Given the description of an element on the screen output the (x, y) to click on. 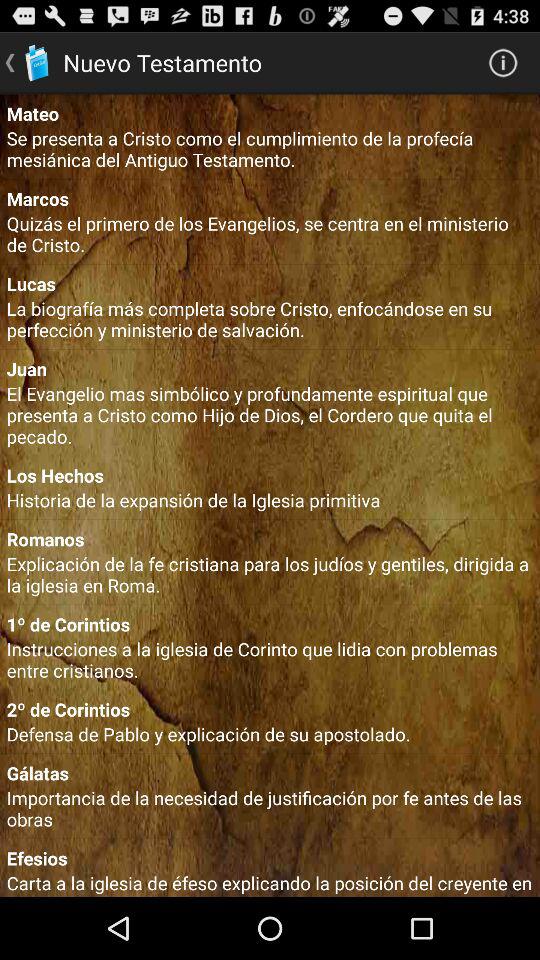
flip until the romanos icon (269, 538)
